Given the description of an element on the screen output the (x, y) to click on. 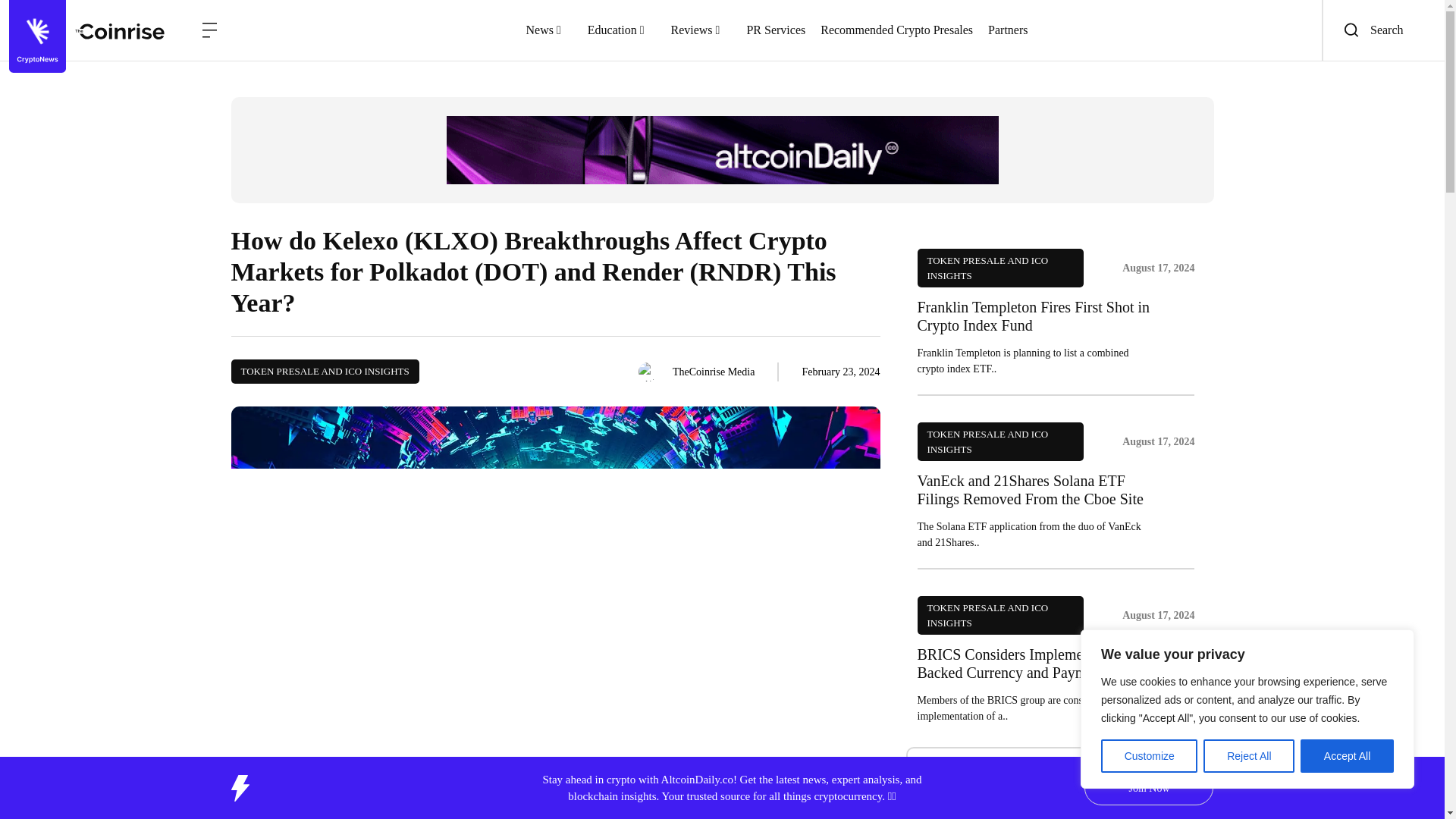
Education (622, 29)
Accept All (1346, 756)
Reject All (1249, 756)
News (548, 29)
Customize (1148, 756)
Reviews (699, 29)
